Given the description of an element on the screen output the (x, y) to click on. 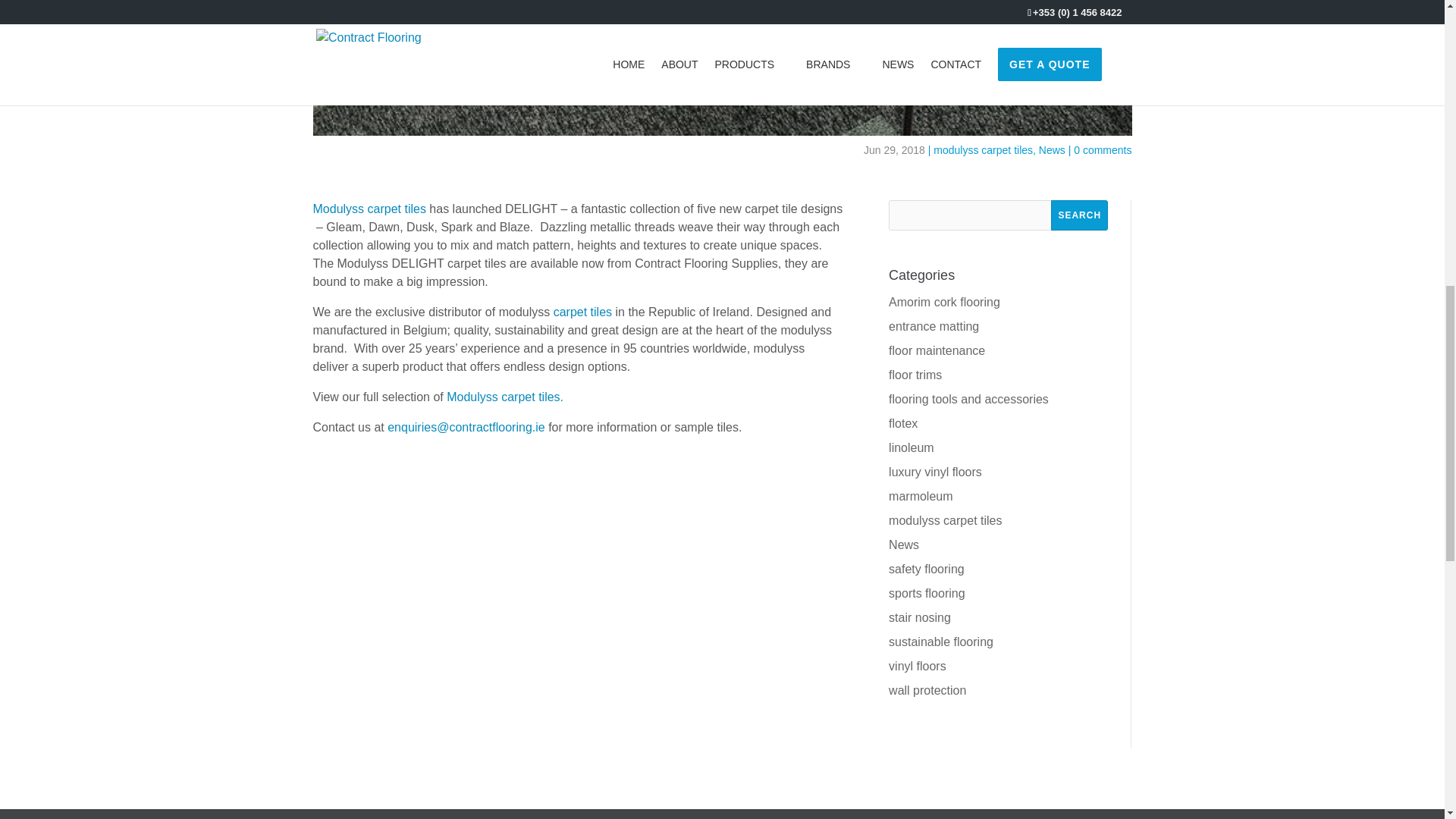
sitting-room (722, 67)
